Given the description of an element on the screen output the (x, y) to click on. 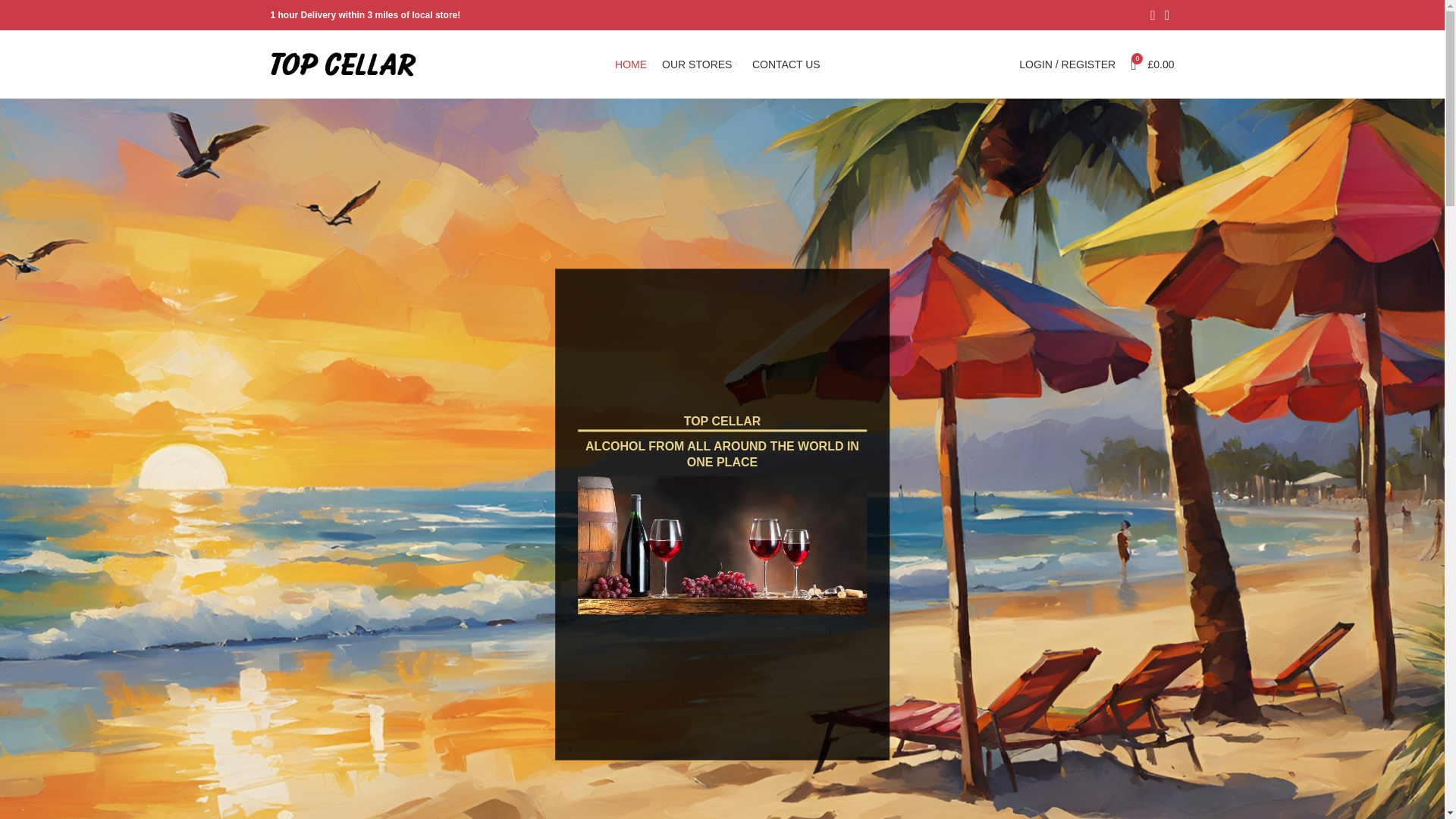
Shopping cart (1151, 64)
CONTACT US (786, 64)
HOME (630, 64)
My account (1066, 64)
OUR STORES (699, 64)
